Given the description of an element on the screen output the (x, y) to click on. 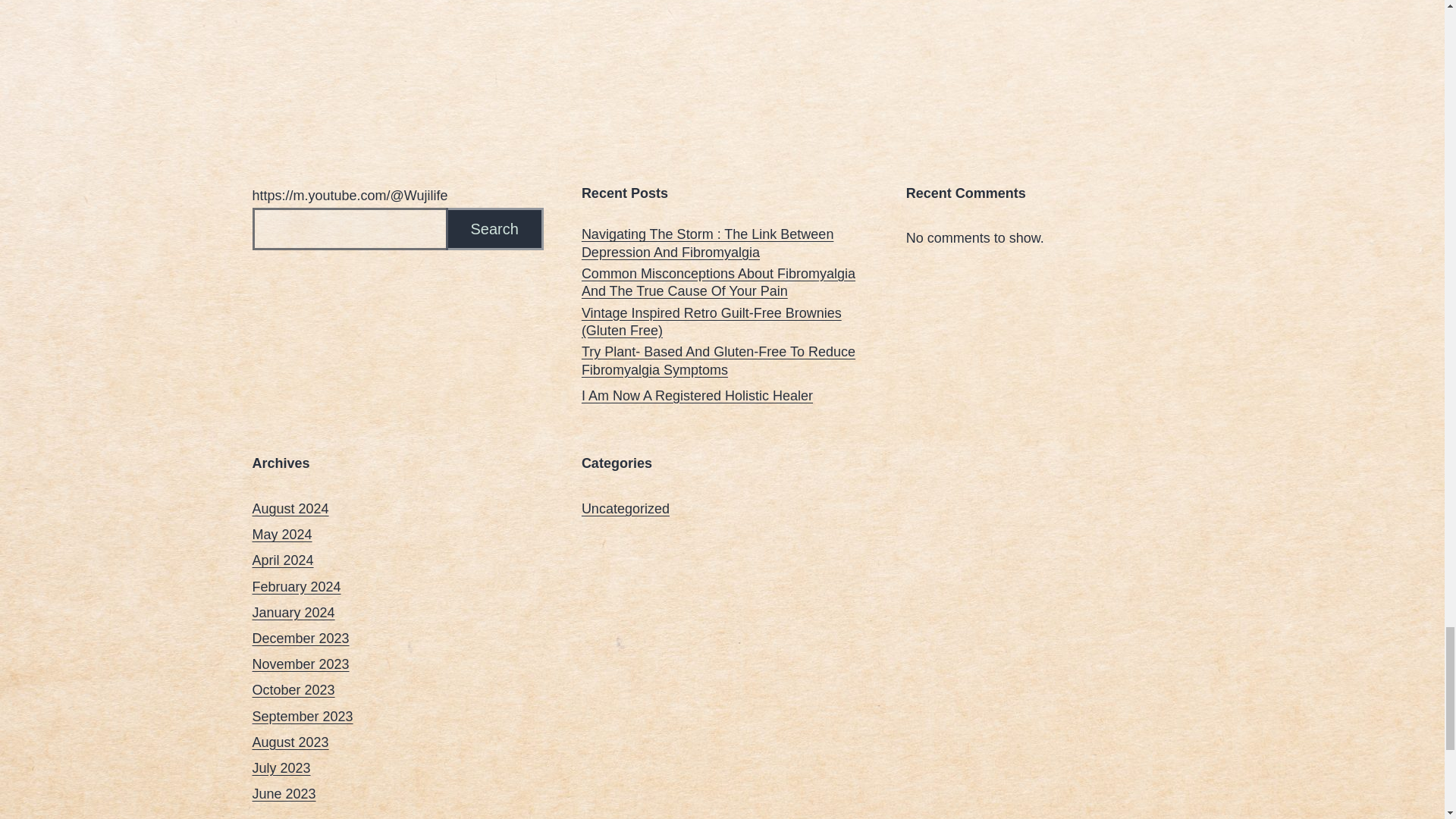
May 2024 (281, 534)
February 2024 (295, 586)
August 2024 (290, 508)
Search (494, 229)
April 2024 (282, 560)
January 2024 (292, 612)
I Am Now A Registered Holistic Healer (696, 395)
